Given the description of an element on the screen output the (x, y) to click on. 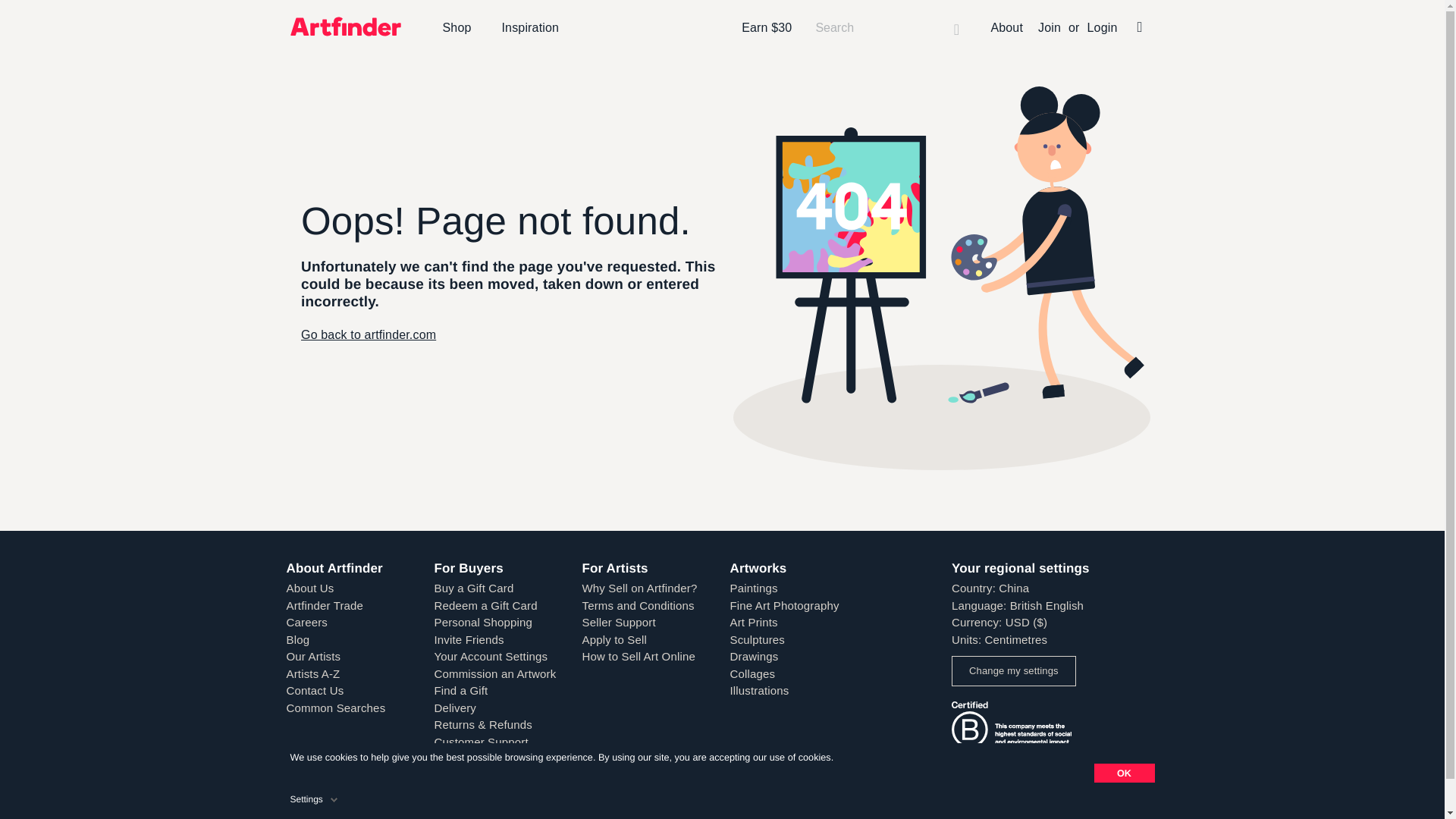
Settings (314, 796)
OK (1123, 772)
